Given the description of an element on the screen output the (x, y) to click on. 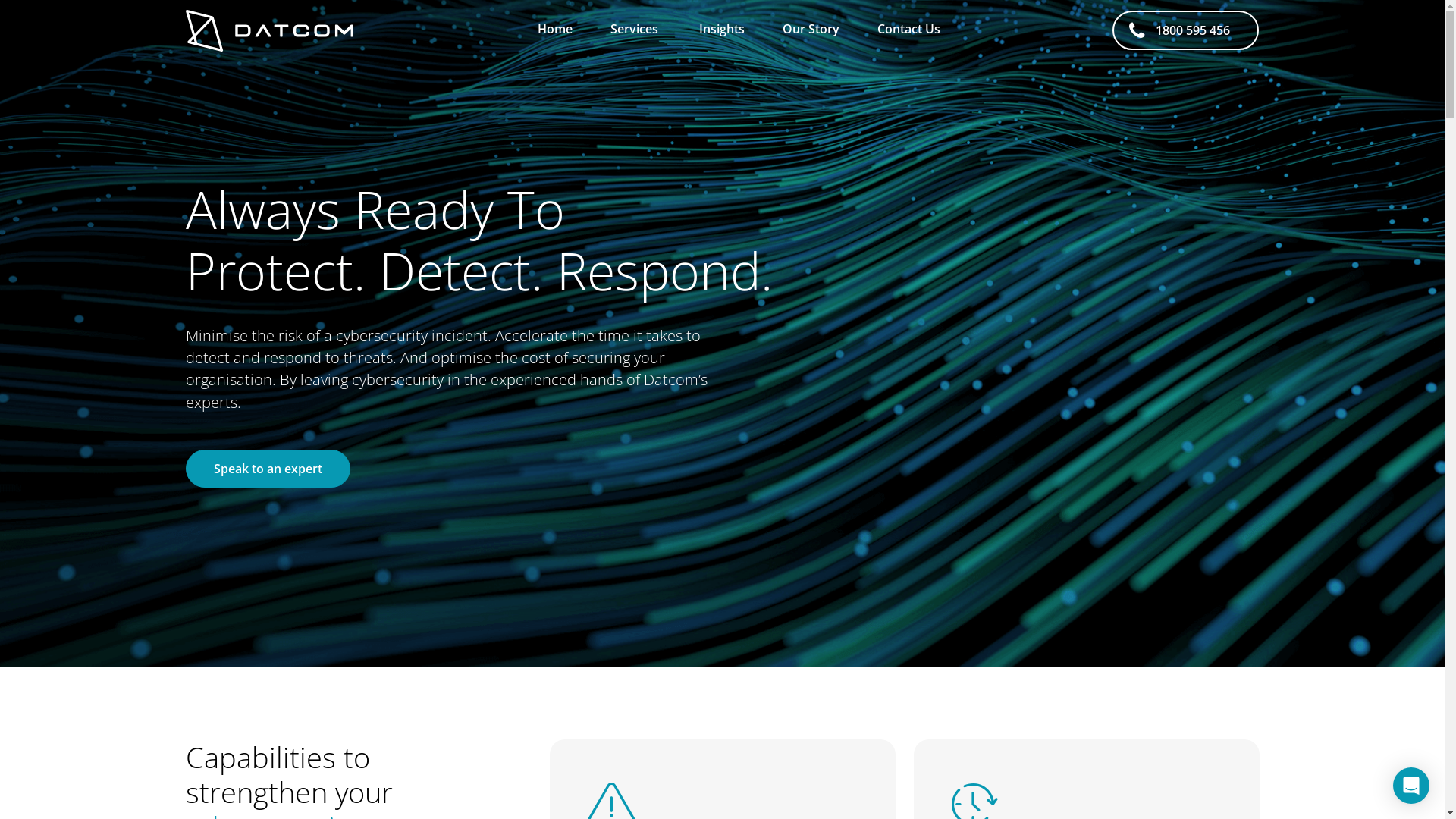
Our Story Element type: text (810, 30)
Contact Us Element type: text (908, 30)
Home Element type: text (554, 30)
Speak to an expert Element type: text (267, 468)
Services Element type: text (635, 30)
1800 595 456 Element type: text (1185, 30)
Insights Element type: text (721, 30)
